Given the description of an element on the screen output the (x, y) to click on. 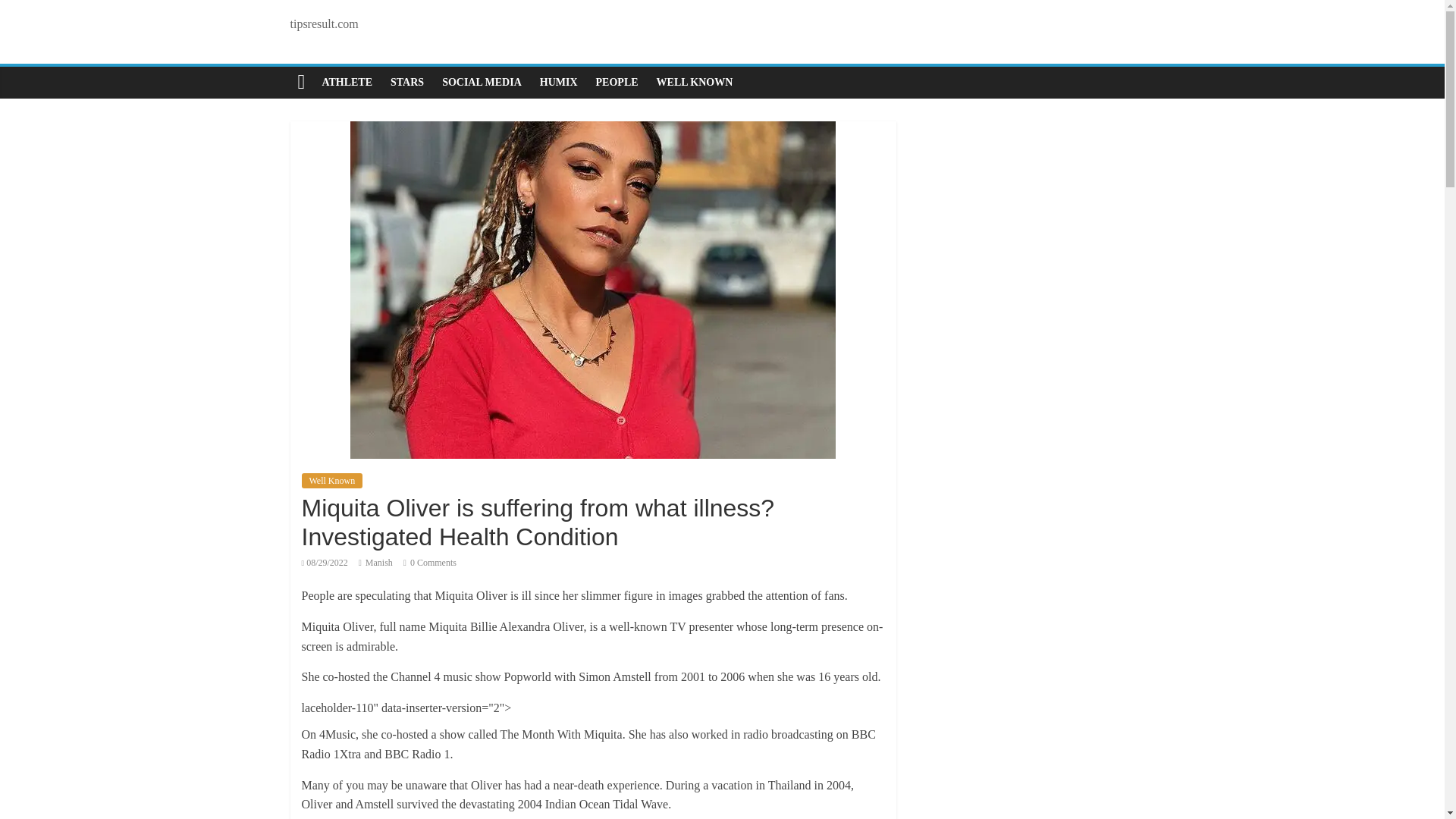
SOCIAL MEDIA (481, 82)
Well Known (331, 480)
ATHLETE (347, 82)
WELL KNOWN (694, 82)
0 Comments (430, 562)
Manish (379, 562)
HUMIX (558, 82)
STARS (406, 82)
PEOPLE (616, 82)
2:25 pm (324, 562)
Manish (379, 562)
